Given the description of an element on the screen output the (x, y) to click on. 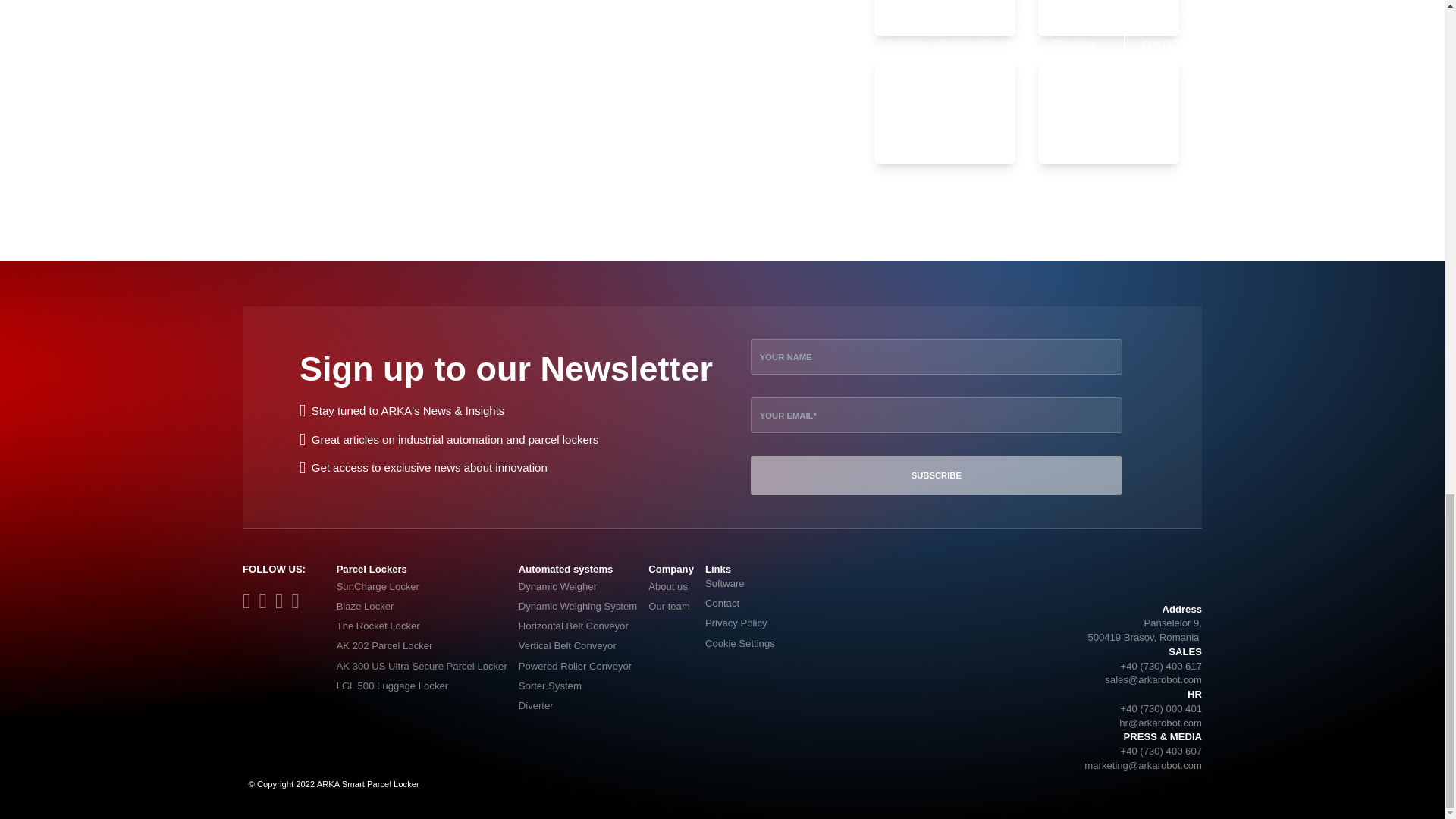
Cookie Settings (739, 646)
Diverter (577, 705)
Dynamic Weigher (577, 587)
Blaze Locker (421, 606)
AK 300 US Ultra Secure Parcel Locker (421, 666)
AK 202 Parcel Locker (421, 646)
Sorter System (577, 686)
Follow us on Instagram (267, 603)
Follow us on YouTube (283, 603)
Privacy Policy (739, 626)
